Given the description of an element on the screen output the (x, y) to click on. 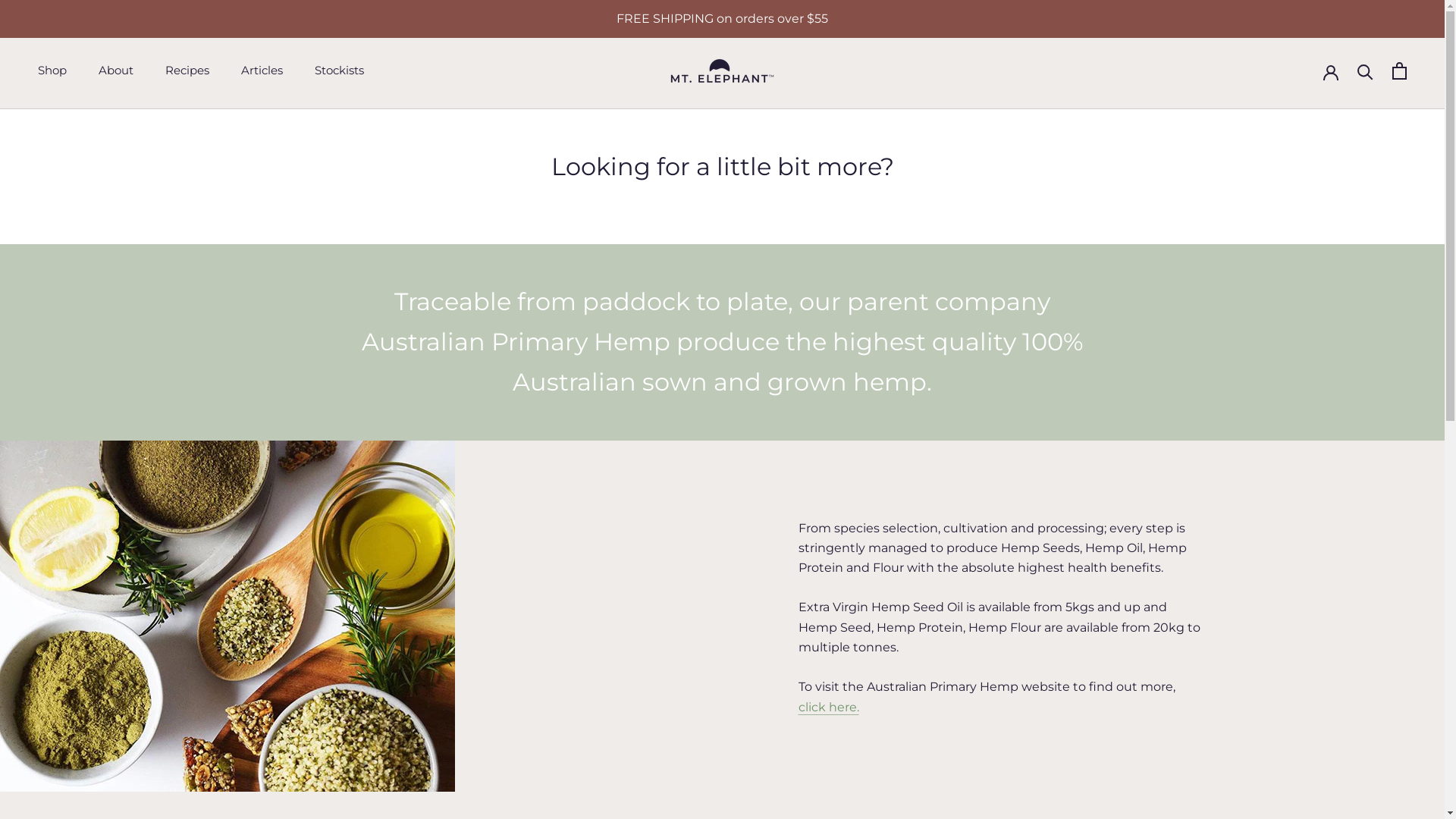
click here. Element type: text (827, 706)
Articles
Articles Element type: text (261, 69)
Recipes
Recipes Element type: text (187, 69)
About Element type: text (115, 69)
Stockists
Stockists Element type: text (339, 69)
Shop Element type: text (51, 69)
